Given the description of an element on the screen output the (x, y) to click on. 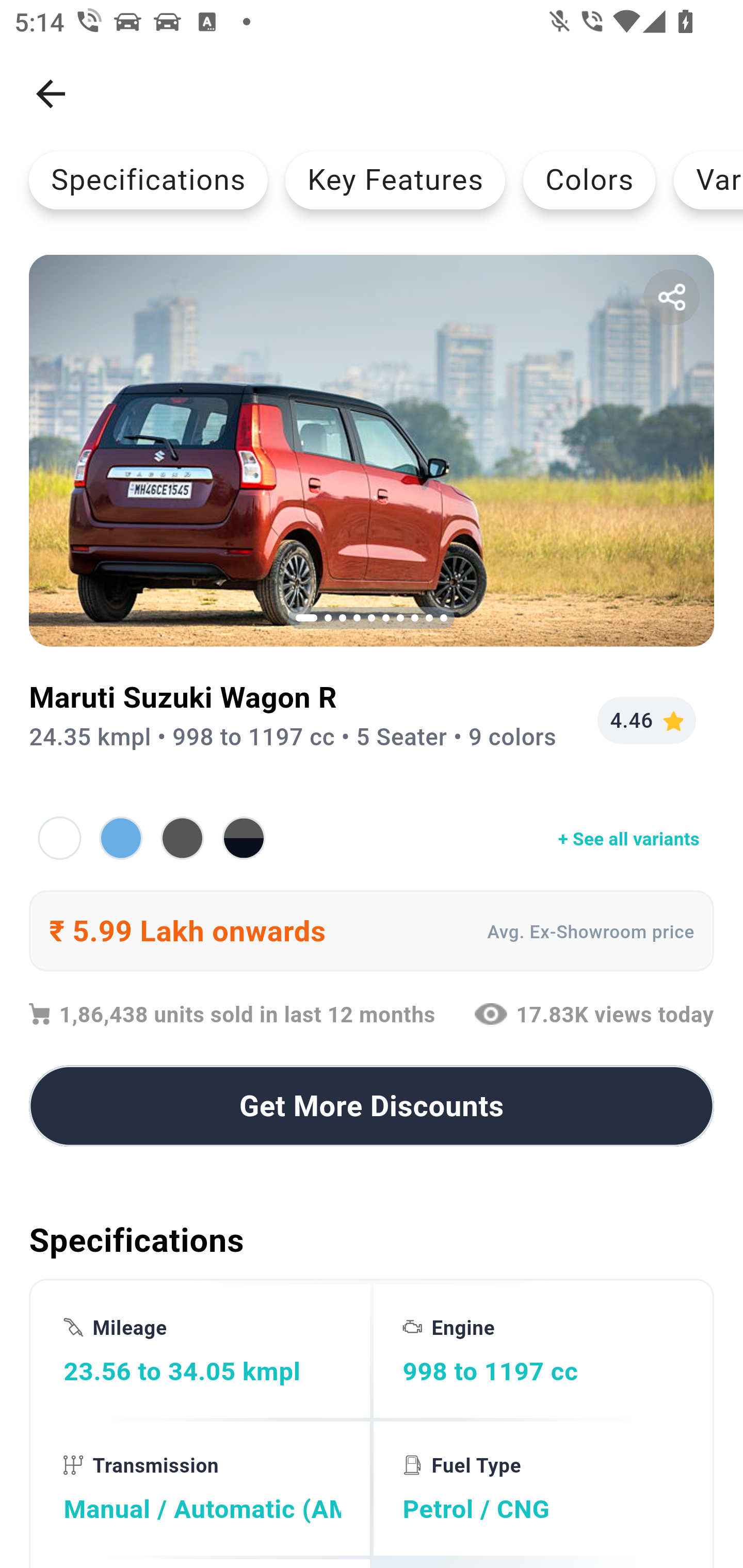
Back (50, 93)
Specifications (147, 180)
Key Features (395, 180)
Colors (589, 180)
+ See all variants (371, 837)
Mileage 23.56 to 34.05 kmpl (202, 1350)
Engine 998 to 1197 cc (540, 1350)
Transmission Manual / Automatic (AMT) (202, 1488)
Fuel Type Petrol / CNG (540, 1488)
